Given the description of an element on the screen output the (x, y) to click on. 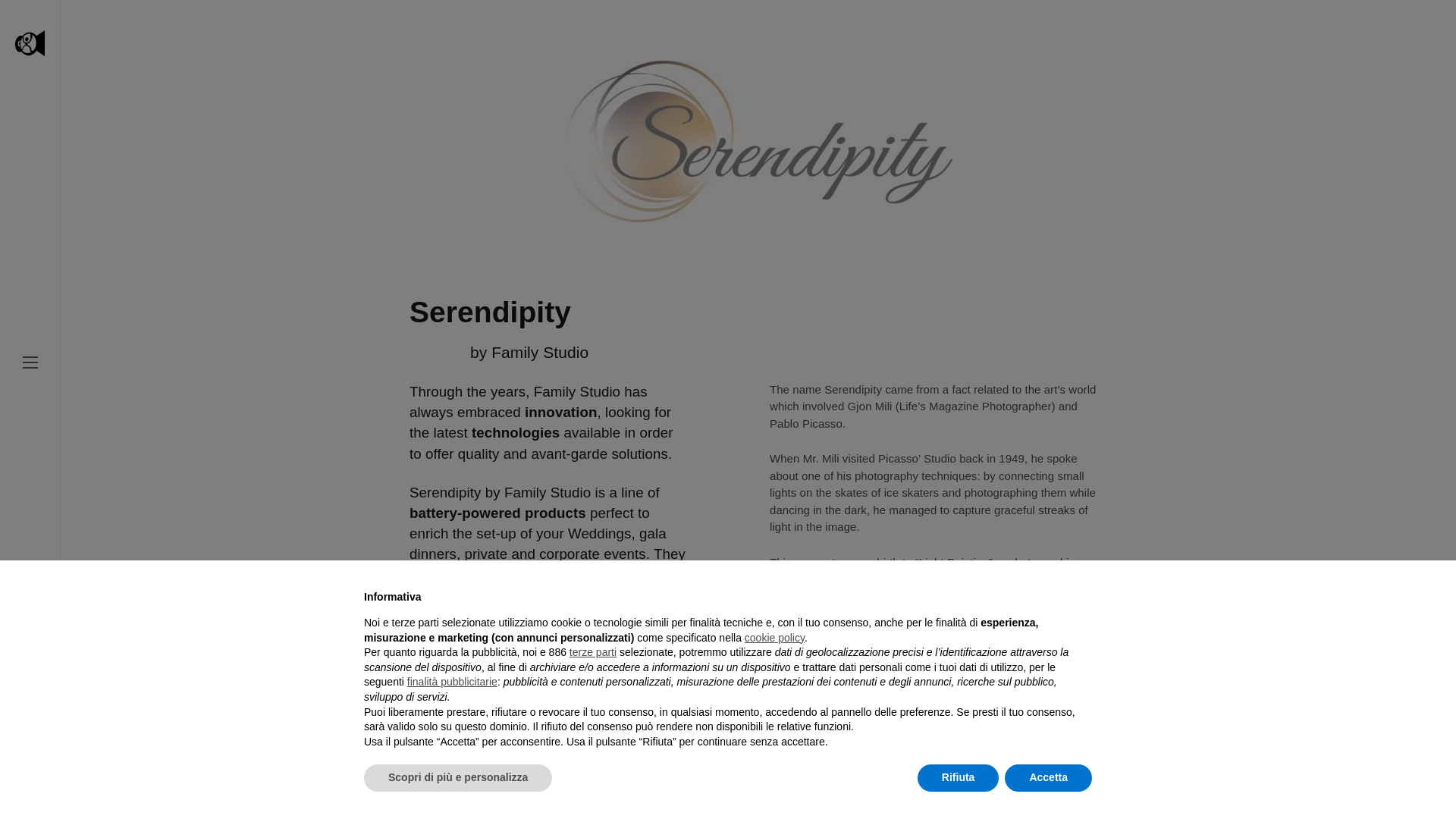
instagram (29, 704)
pinterst (29, 729)
linkedin (29, 776)
